Given the description of an element on the screen output the (x, y) to click on. 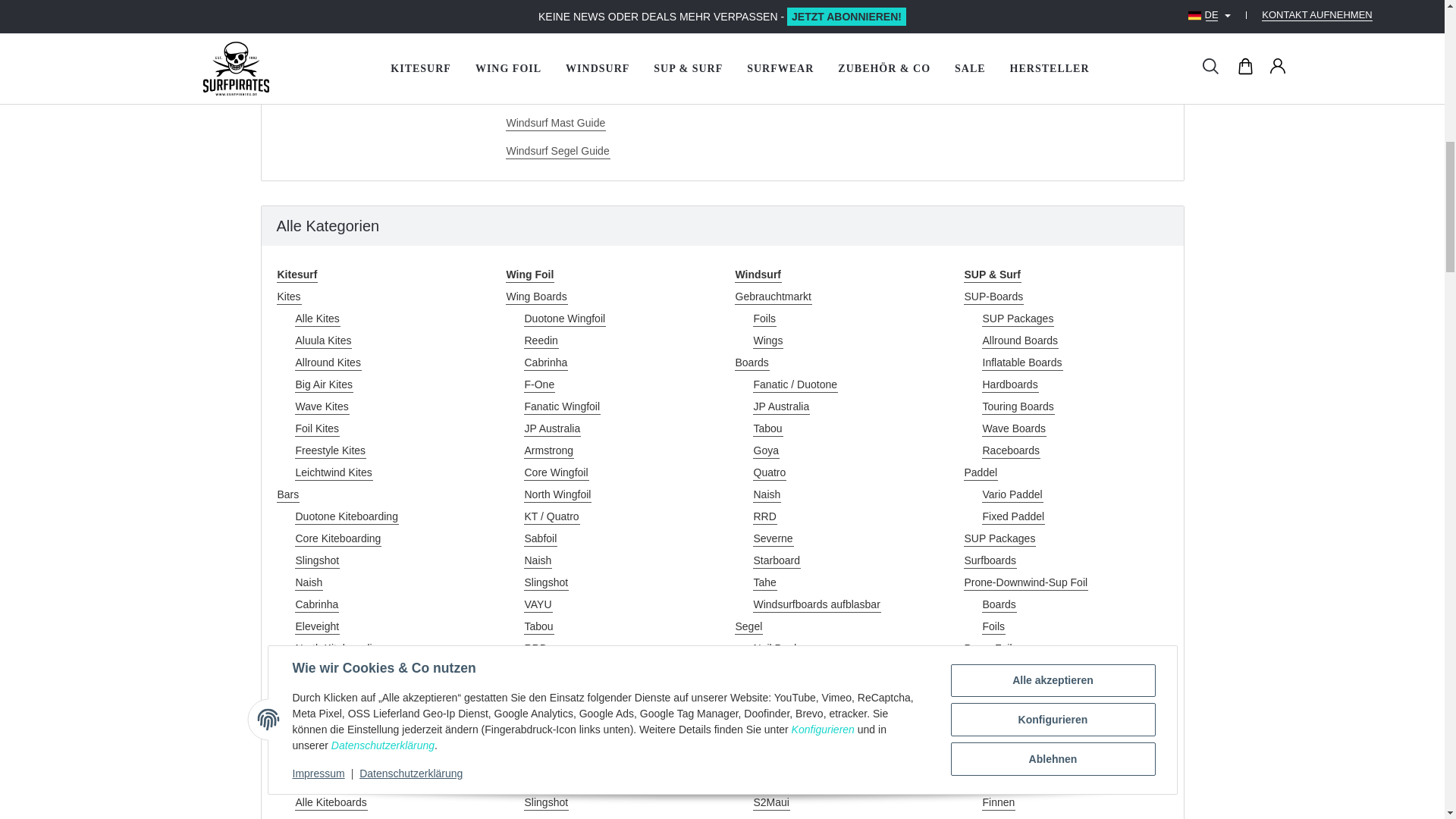
Kitesurfing Kite Guide (607, 38)
404 (1064, 10)
Footer (378, 38)
Wetsuite Guide (607, 66)
Windsurf Mast Guide (607, 123)
Windsurf Segel Guide (607, 150)
Windsurf Board Guide (607, 94)
